Given the description of an element on the screen output the (x, y) to click on. 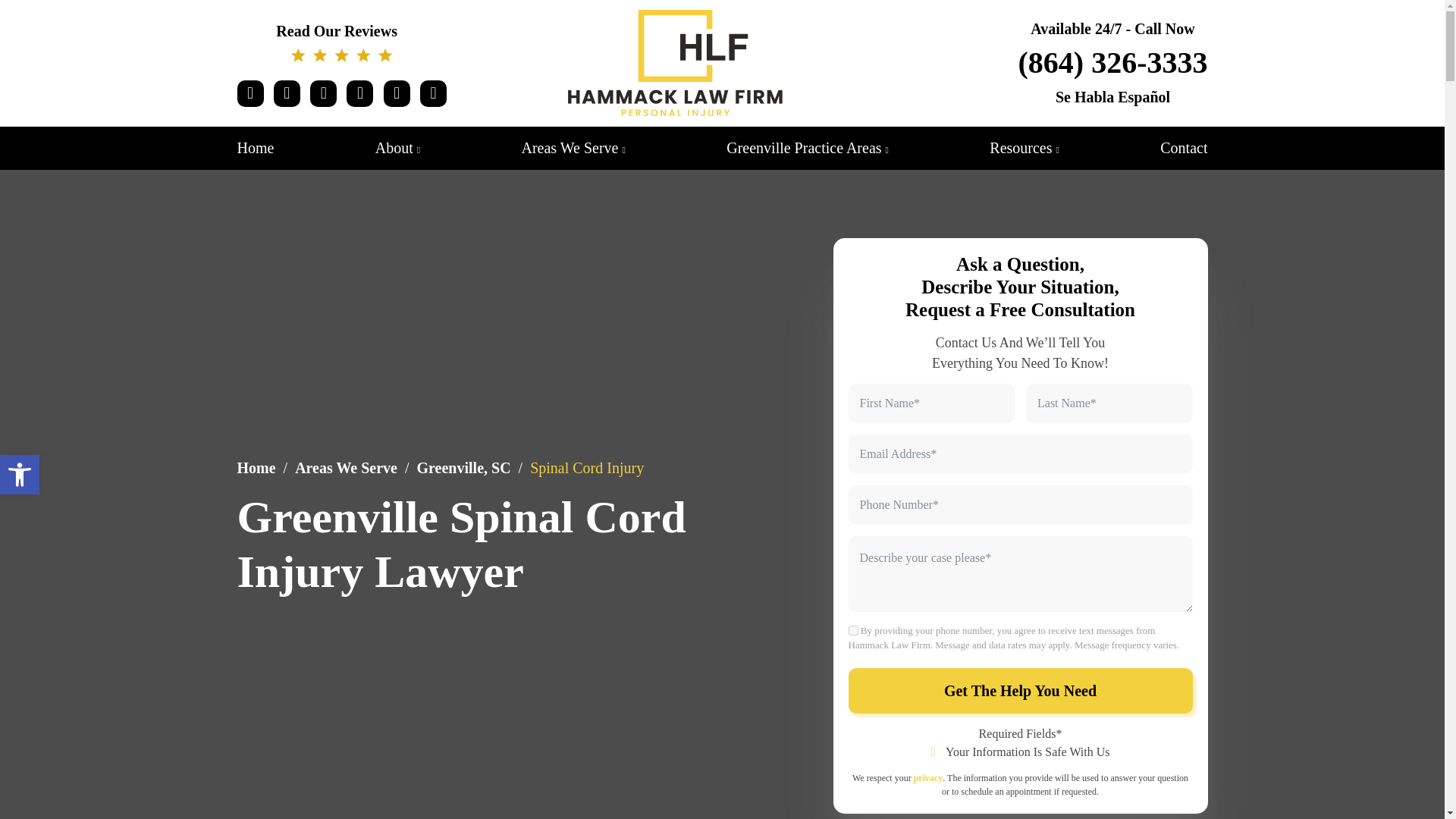
Accessibility Tools (19, 474)
About (397, 147)
Read Our Reviews (340, 42)
Accessibility Tools (19, 474)
Home (19, 474)
Areas We Serve (254, 147)
Read Our Reviews (573, 147)
